Given the description of an element on the screen output the (x, y) to click on. 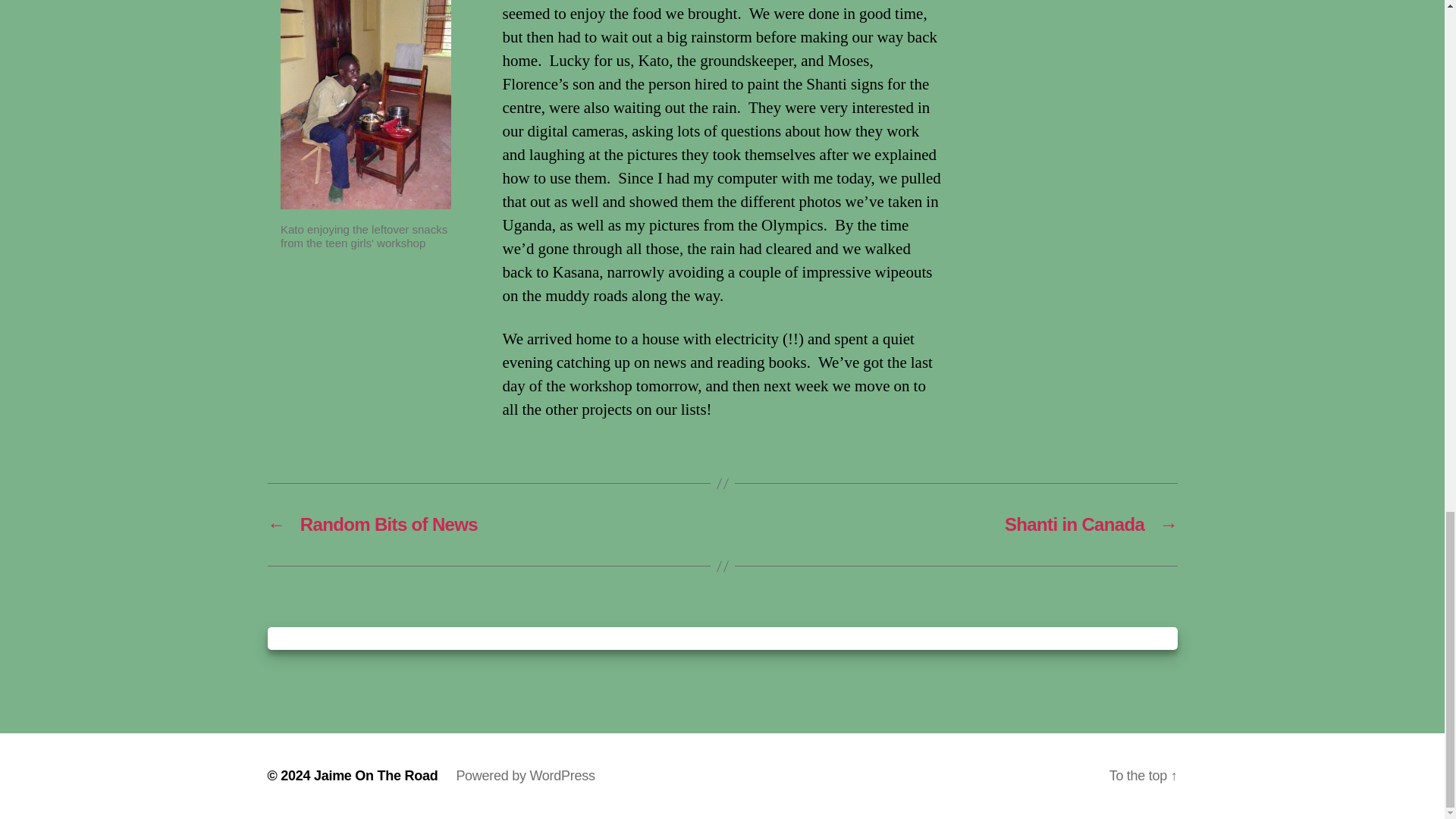
Jaime On The Road (376, 775)
IMGP0360 (366, 104)
Powered by WordPress (524, 775)
